Given the description of an element on the screen output the (x, y) to click on. 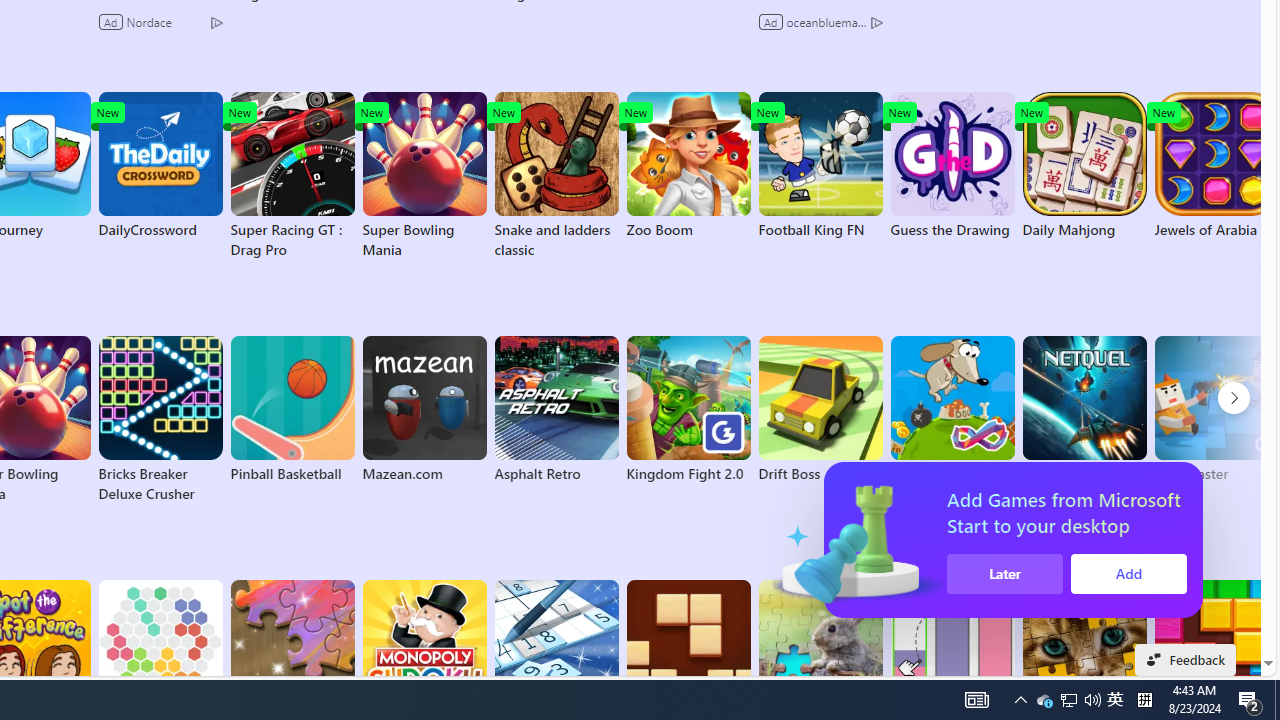
Later (1011, 573)
Asphalt Retro (556, 409)
Guess the Drawing (952, 165)
Arcade next page (1233, 397)
Snake and ladders classic (556, 175)
Daily Mahjong (1083, 165)
Super Bowling Mania (424, 175)
Hungry Dog FRVR (952, 409)
Mazean.com (424, 409)
